Given the description of an element on the screen output the (x, y) to click on. 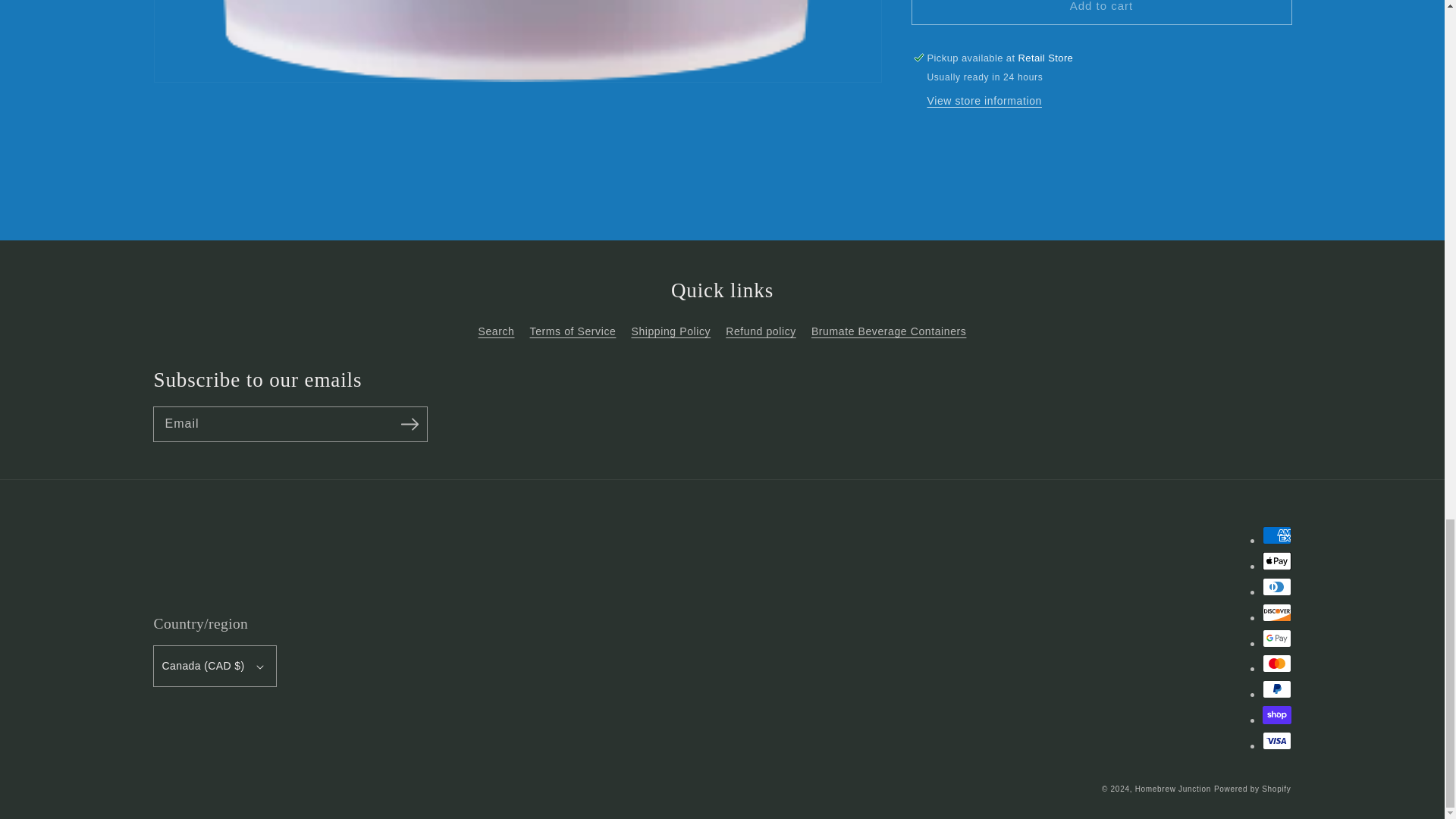
Mastercard (1276, 663)
American Express (1276, 535)
Google Pay (1276, 638)
Apple Pay (1276, 561)
Diners Club (1276, 587)
Discover (1276, 612)
